Given the description of an element on the screen output the (x, y) to click on. 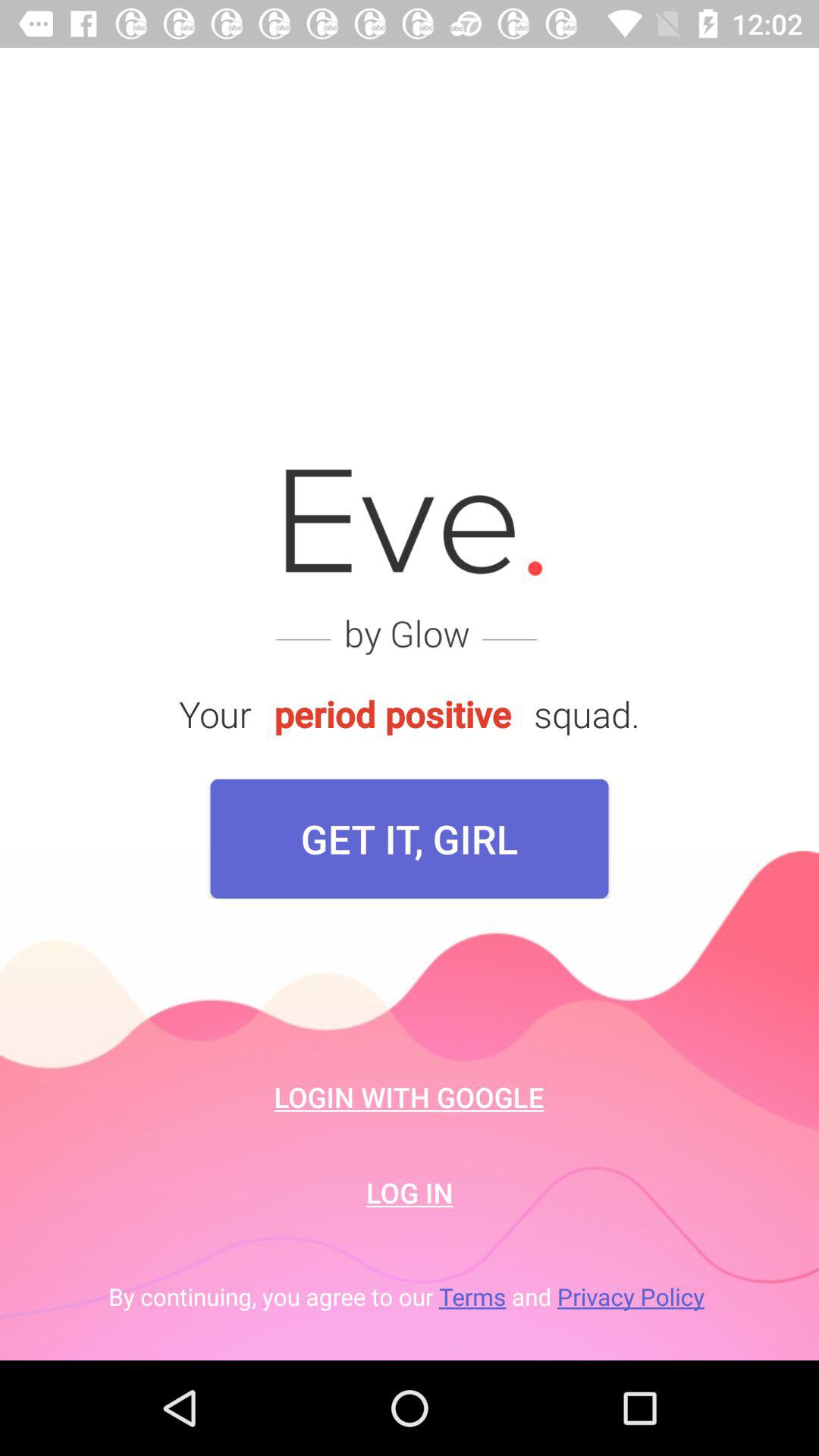
choose the icon below the  login with google  icon (409, 1192)
